Given the description of an element on the screen output the (x, y) to click on. 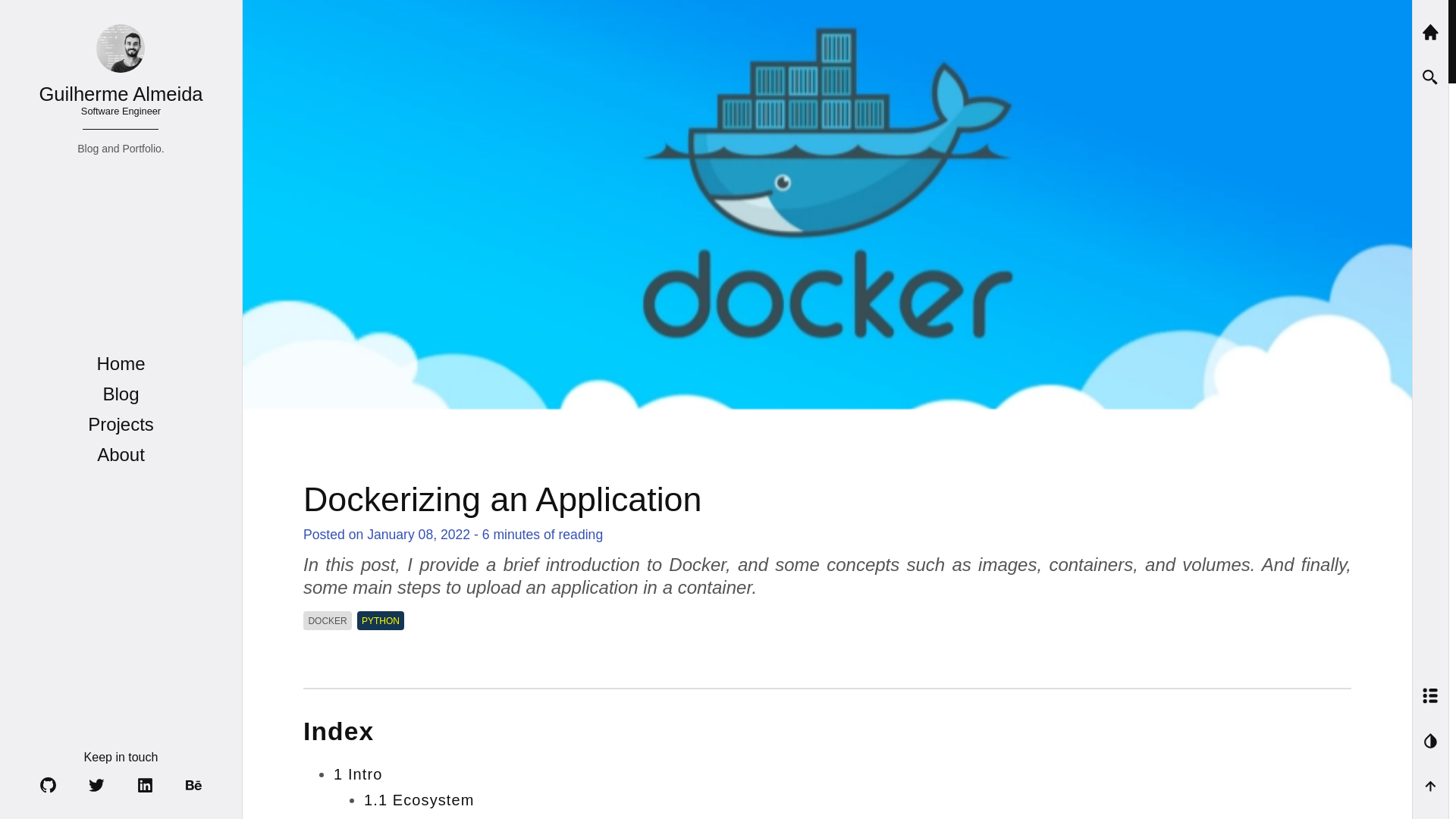
Behance (193, 784)
About (120, 454)
Github (48, 784)
Twitter (96, 784)
Projects (120, 424)
1.1 Ecosystem (419, 799)
1 Intro (120, 82)
Home (357, 773)
1.2 Container is not a VM (120, 362)
